Given the description of an element on the screen output the (x, y) to click on. 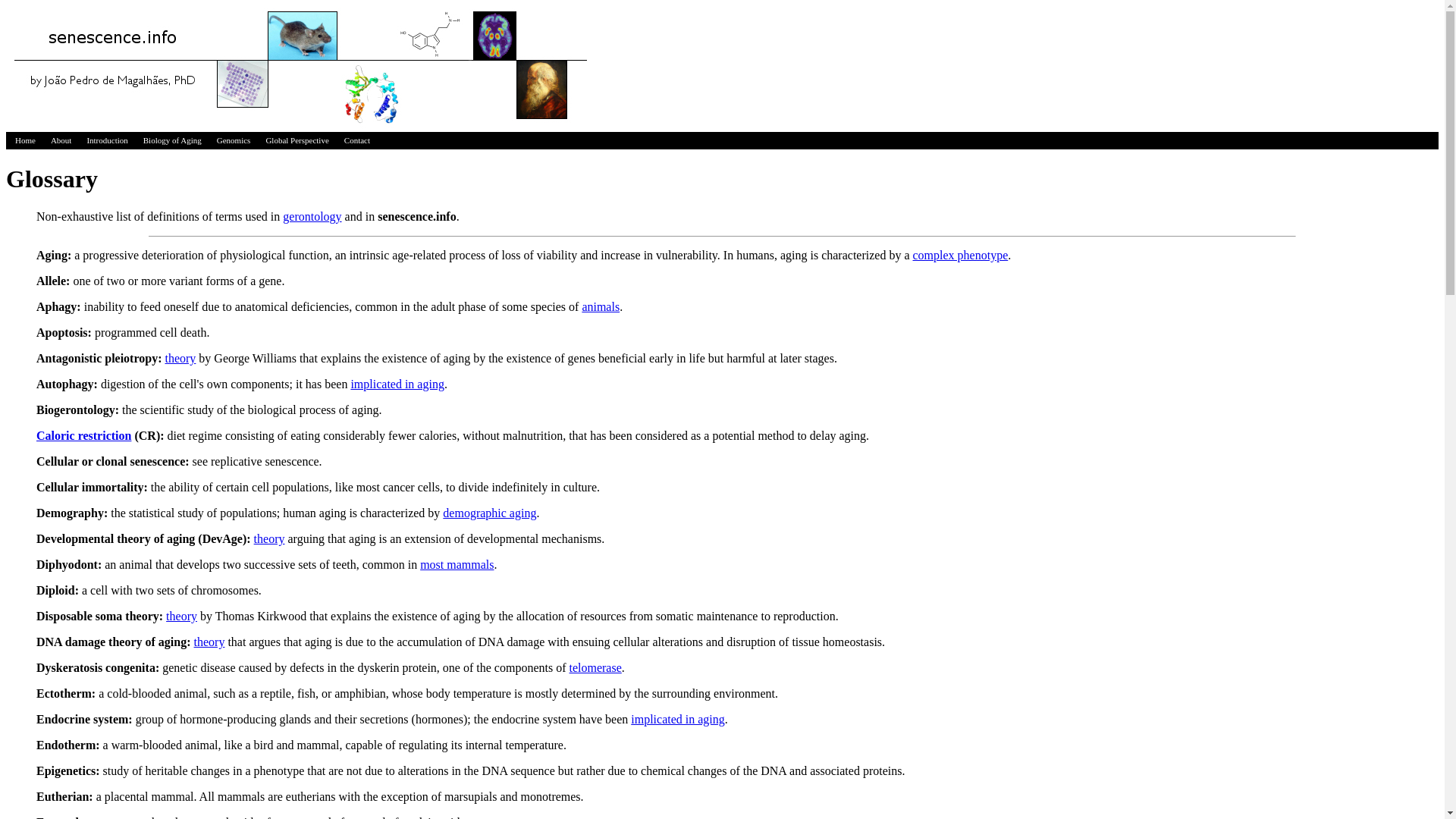
About (61, 140)
Introduction (106, 140)
Genomics (234, 140)
Home (25, 140)
Global Perspective (296, 140)
Biology of Aging (172, 140)
